Given the description of an element on the screen output the (x, y) to click on. 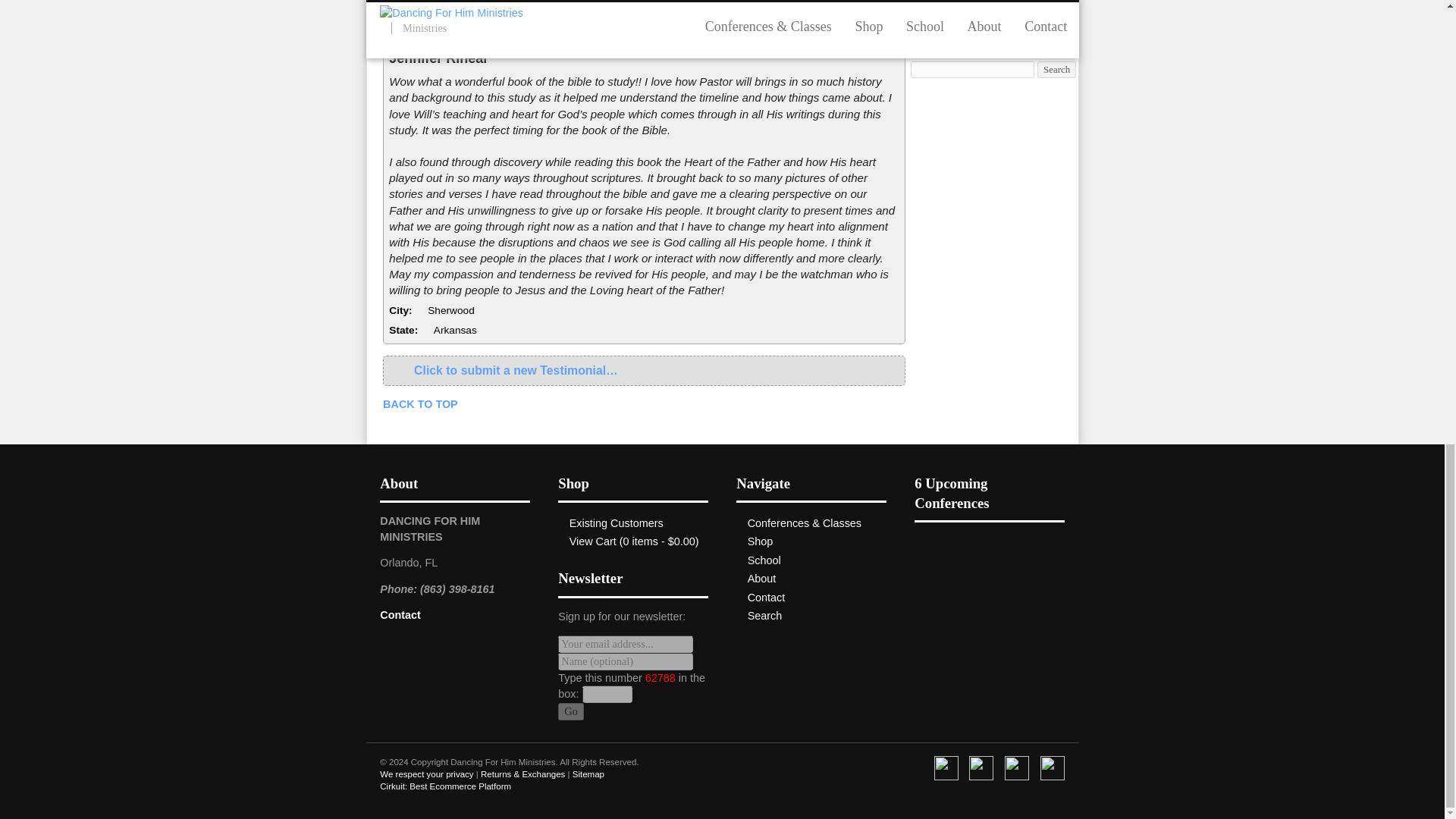
Go (570, 711)
Pause (884, 34)
Search (765, 615)
